Given the description of an element on the screen output the (x, y) to click on. 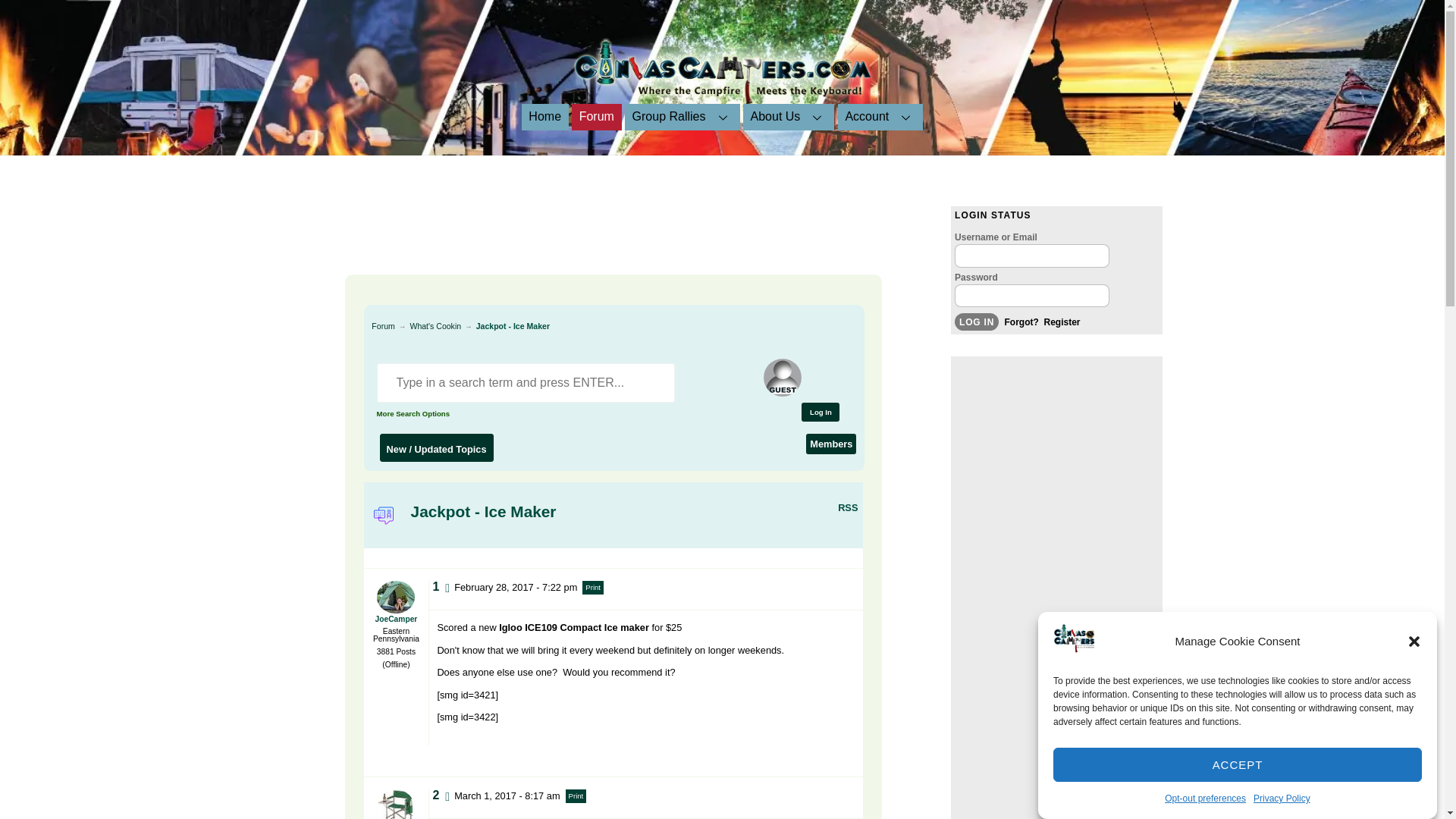
Home (545, 117)
About Us (788, 117)
Group Rallies (681, 117)
Log in and log out (821, 411)
Advertisement (594, 240)
Forum (596, 117)
CanvasCampers (976, 321)
Account (721, 100)
